Given the description of an element on the screen output the (x, y) to click on. 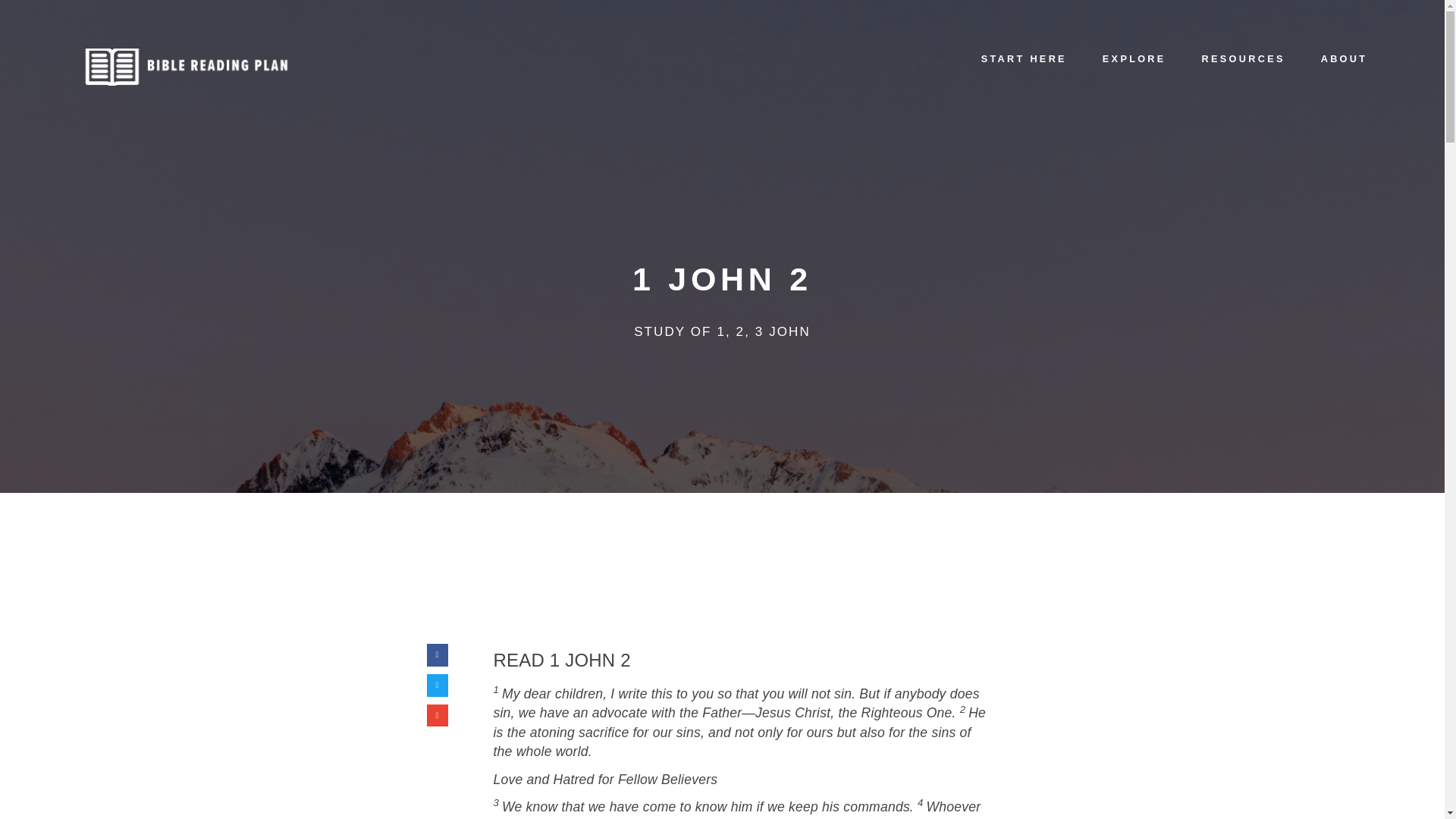
ABOUT (1343, 32)
START HERE (1023, 28)
biblereadingplan-logo-white-02 (113, 560)
EXPLORE (1209, 537)
START HERE (1098, 536)
EXPLORE (1133, 29)
RESOURCES (1318, 539)
RESOURCES (1242, 31)
biblereadingplan-logo-white-02 (186, 66)
